Given the description of an element on the screen output the (x, y) to click on. 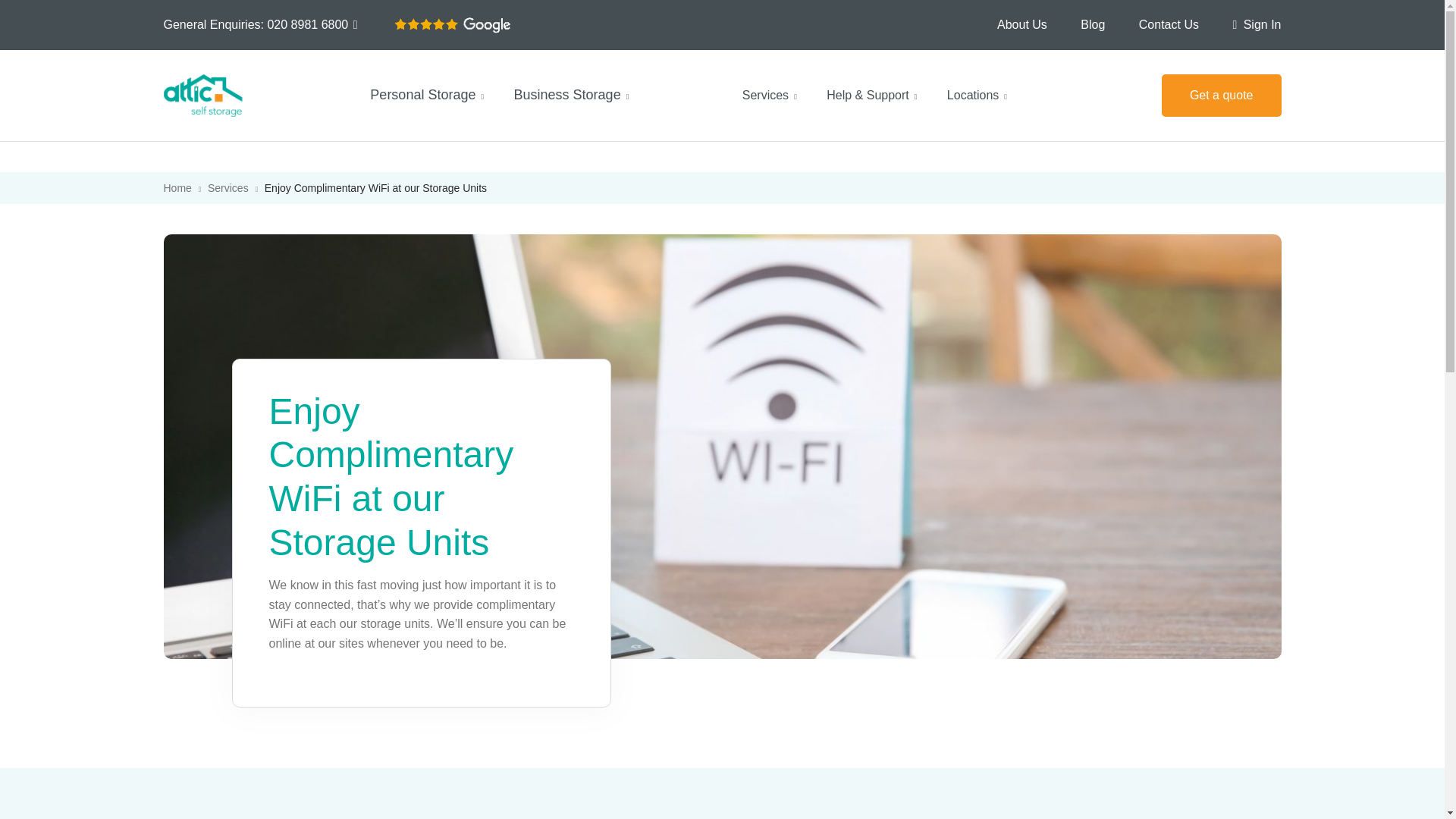
Services (228, 187)
Business Storage (570, 95)
Personal Storage (426, 95)
Homepage (177, 187)
Blog (1092, 24)
Sign In (1256, 24)
Services (769, 95)
Contact Us (1168, 24)
About Us (1021, 24)
